Given the description of an element on the screen output the (x, y) to click on. 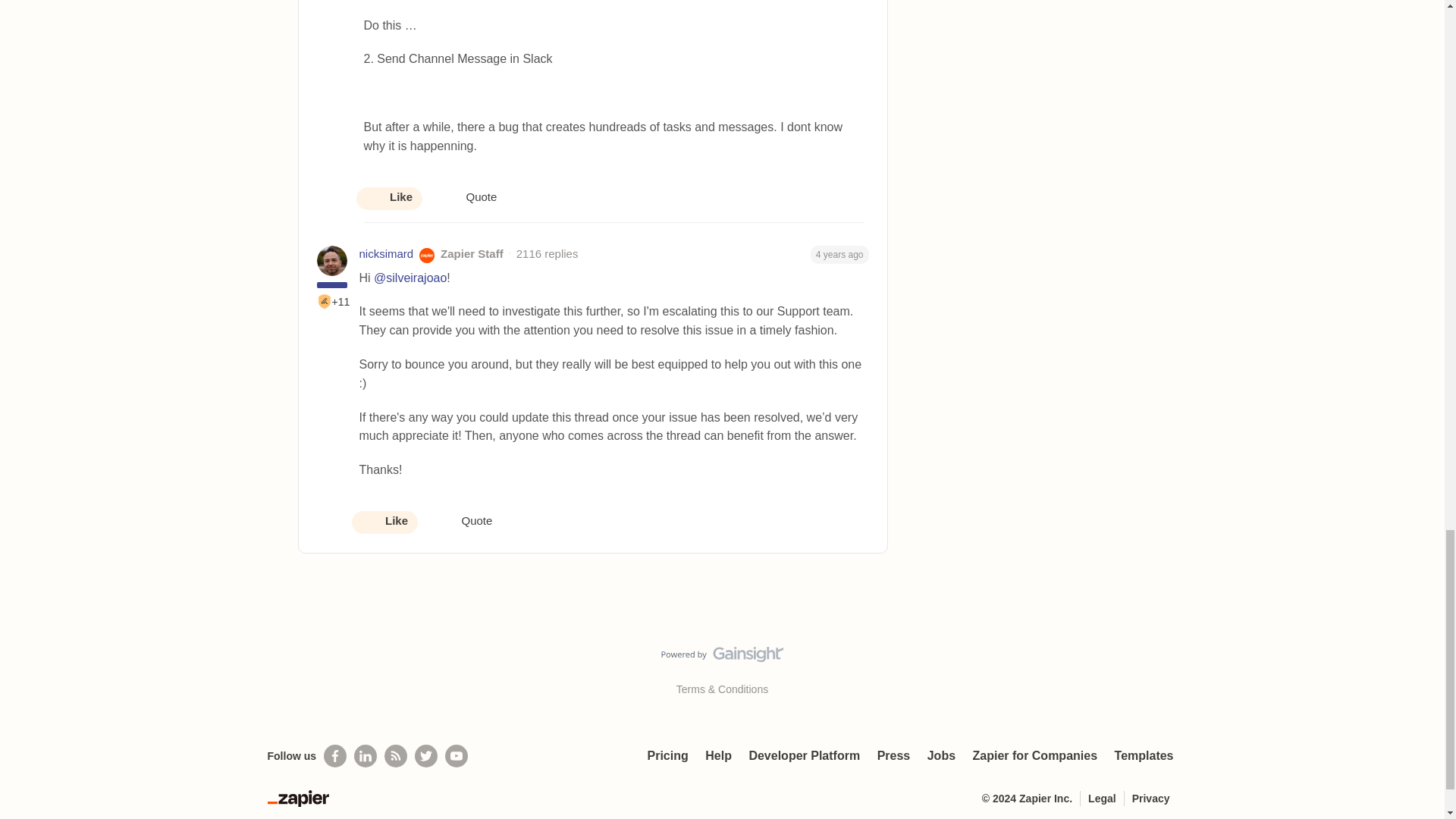
Subscribe to our blog (395, 755)
nicksimard (386, 253)
Follow us on Facebook (334, 755)
Follow us on LinkedIn (365, 755)
First Best Answer (324, 301)
Visit Gainsight.com (722, 658)
See helpful Zapier videos on Youtube (456, 755)
